Given the description of an element on the screen output the (x, y) to click on. 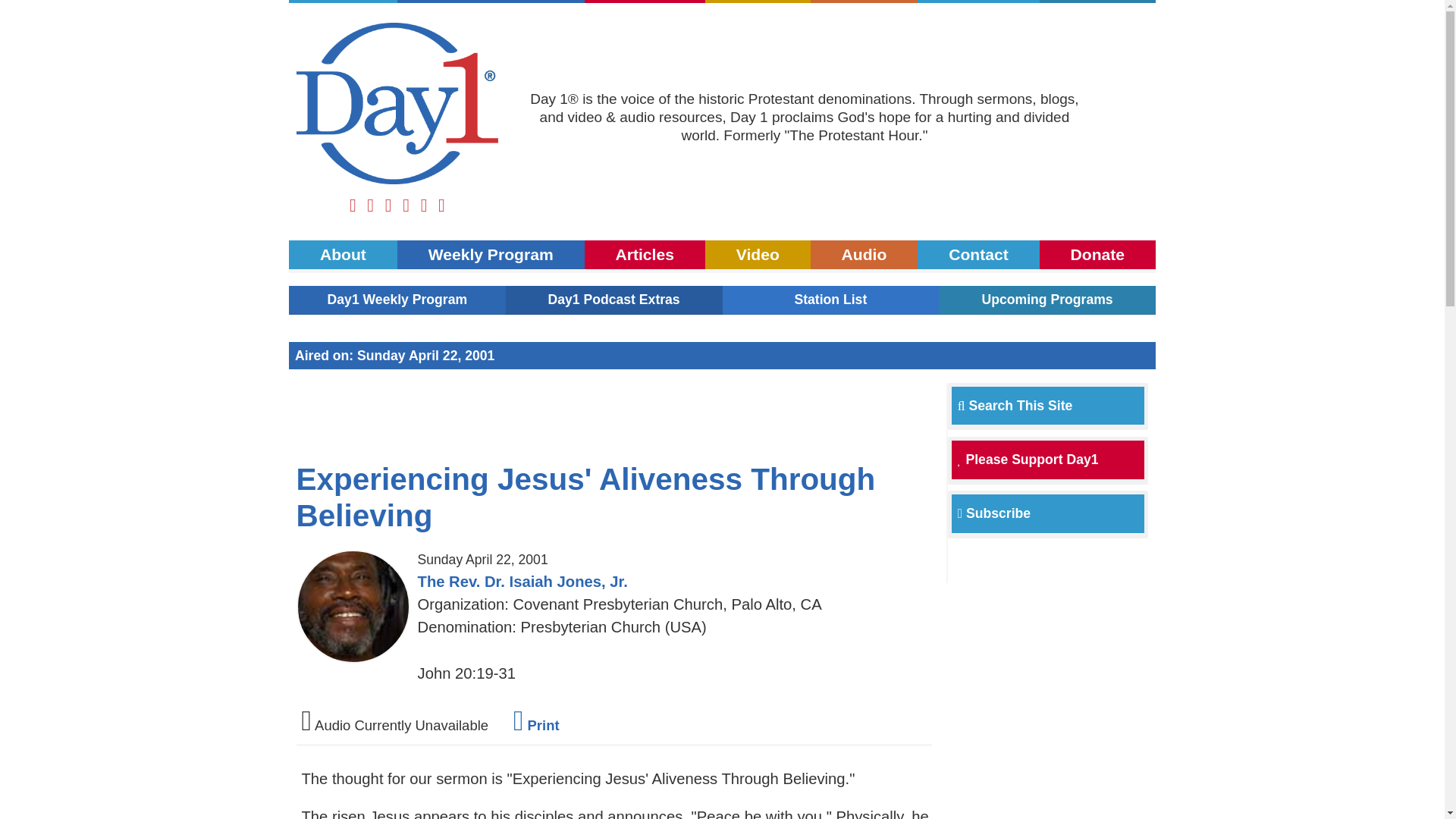
Articles (644, 1)
Upcoming Programs (1047, 299)
Donate (1097, 1)
Day 1Articles (644, 254)
Day1 Audio (864, 1)
About Day1 (342, 254)
Experiencing Jesus' Aliveness Through Believing (586, 497)
Video (757, 1)
Donate (1097, 1)
Contact (978, 254)
